Given the description of an element on the screen output the (x, y) to click on. 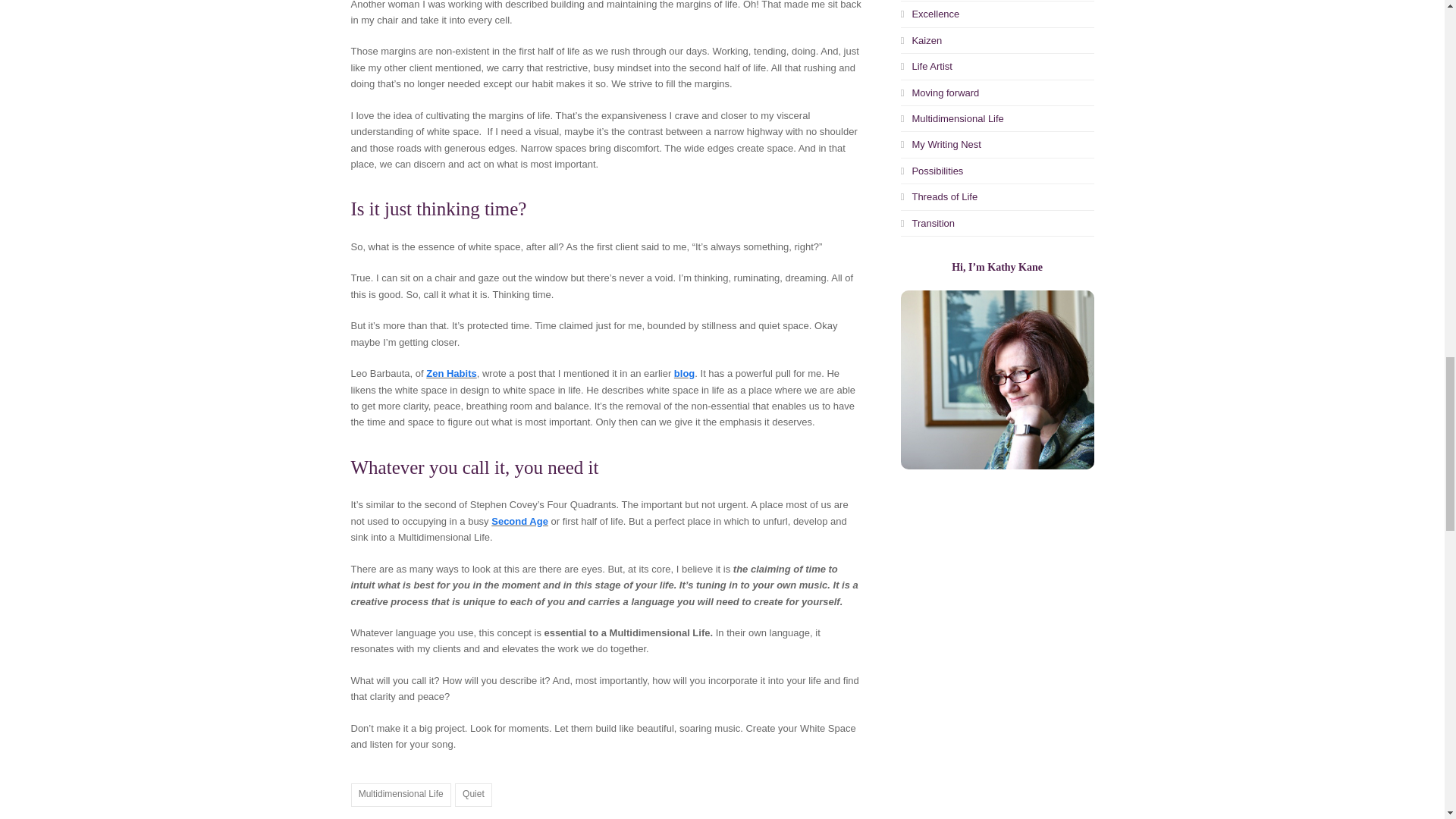
Multidimensional Life (399, 794)
Quiet (473, 794)
Zen Habits (451, 373)
blog (684, 373)
Second Age (520, 521)
